Given the description of an element on the screen output the (x, y) to click on. 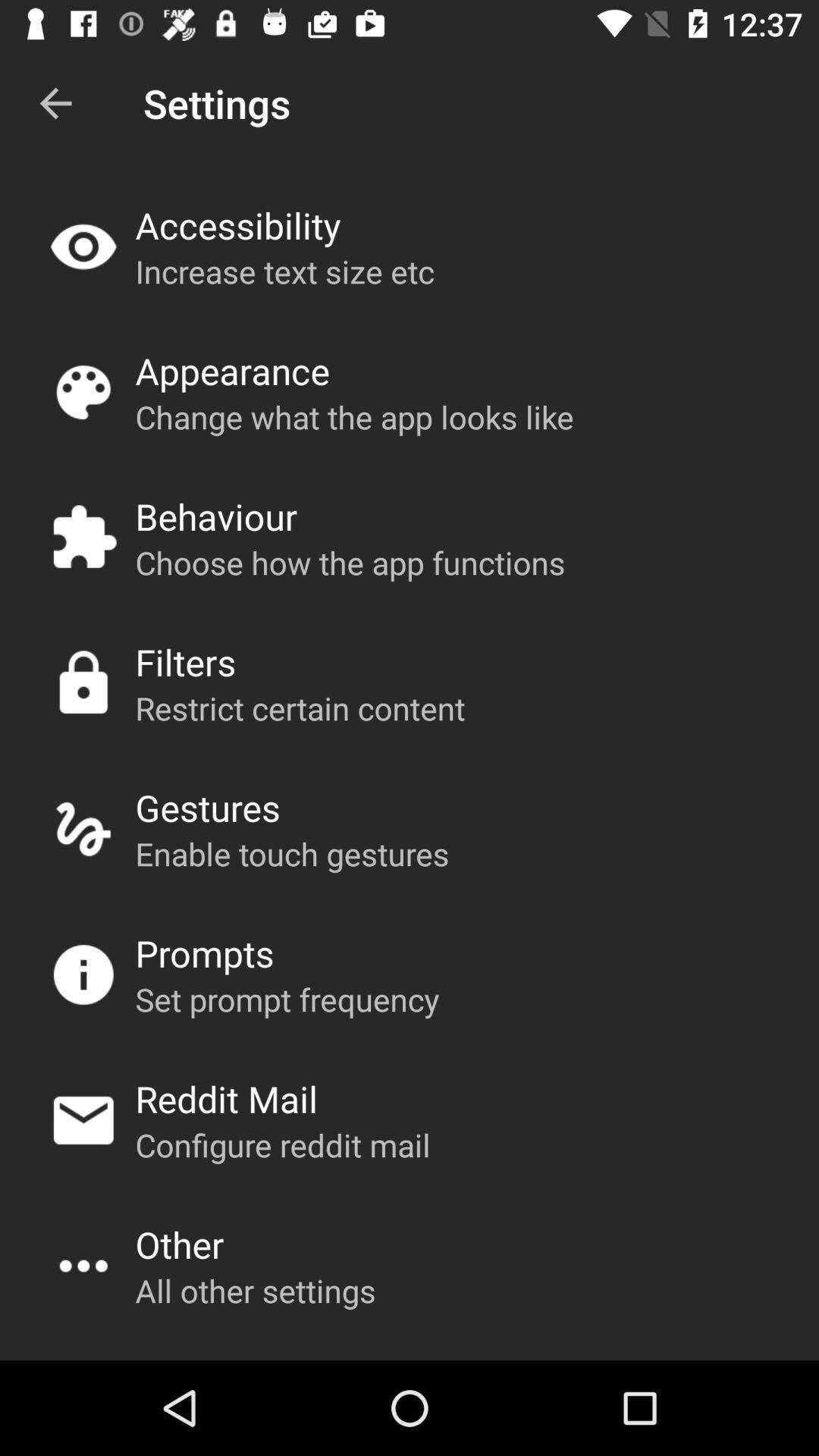
turn on icon below the choose how the icon (185, 661)
